Given the description of an element on the screen output the (x, y) to click on. 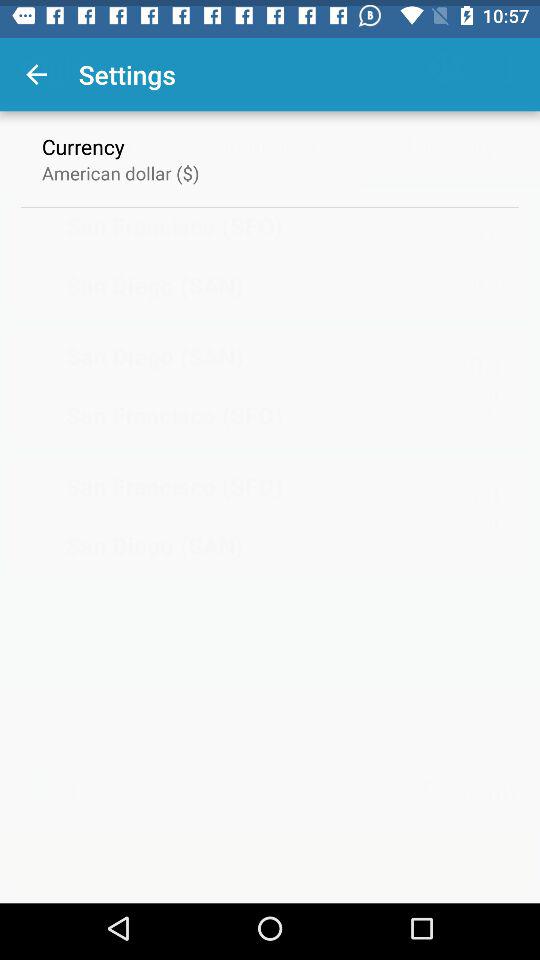
jump until the american dollar ($) item (120, 166)
